Given the description of an element on the screen output the (x, y) to click on. 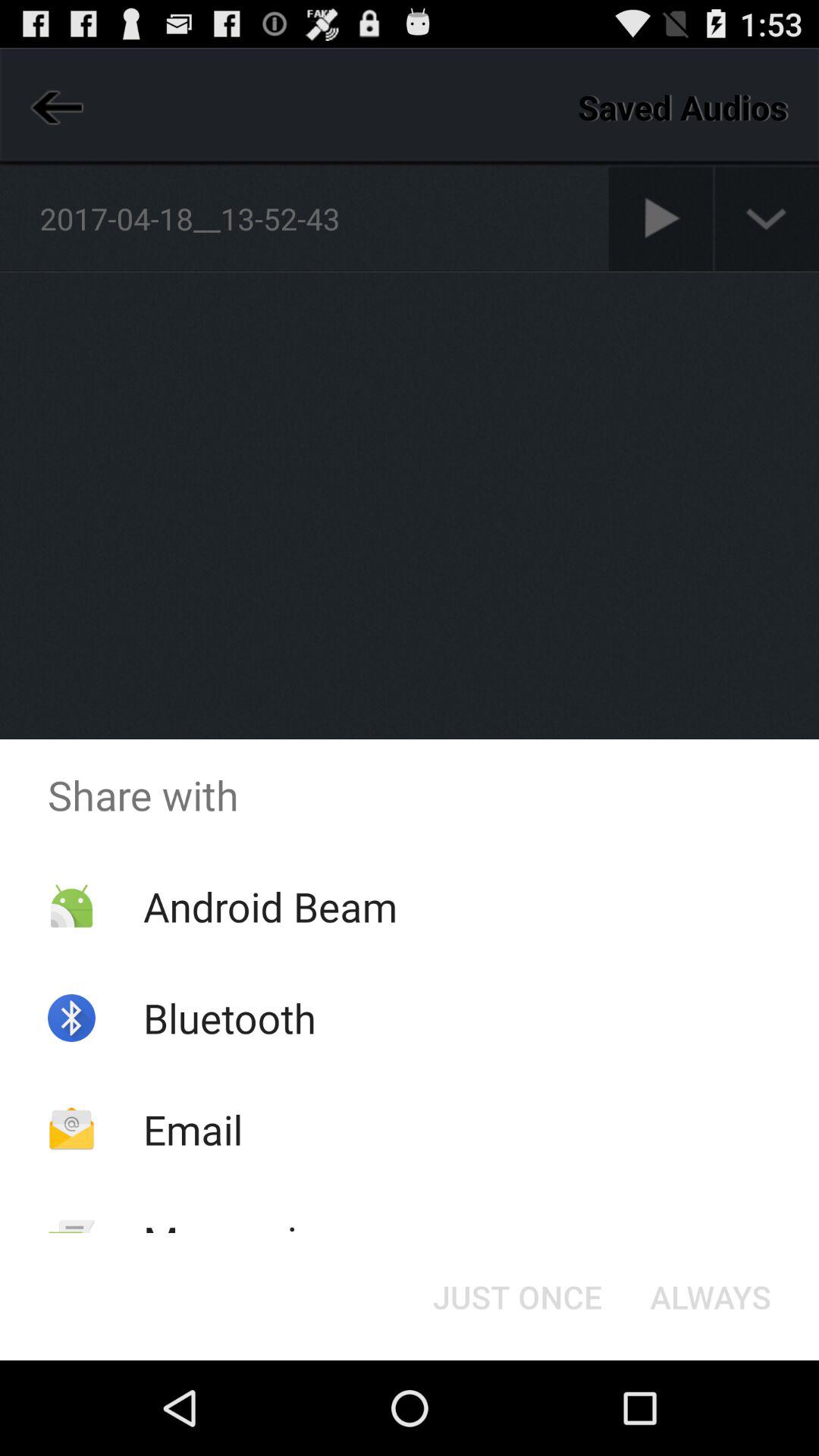
scroll until messaging icon (242, 1240)
